Given the description of an element on the screen output the (x, y) to click on. 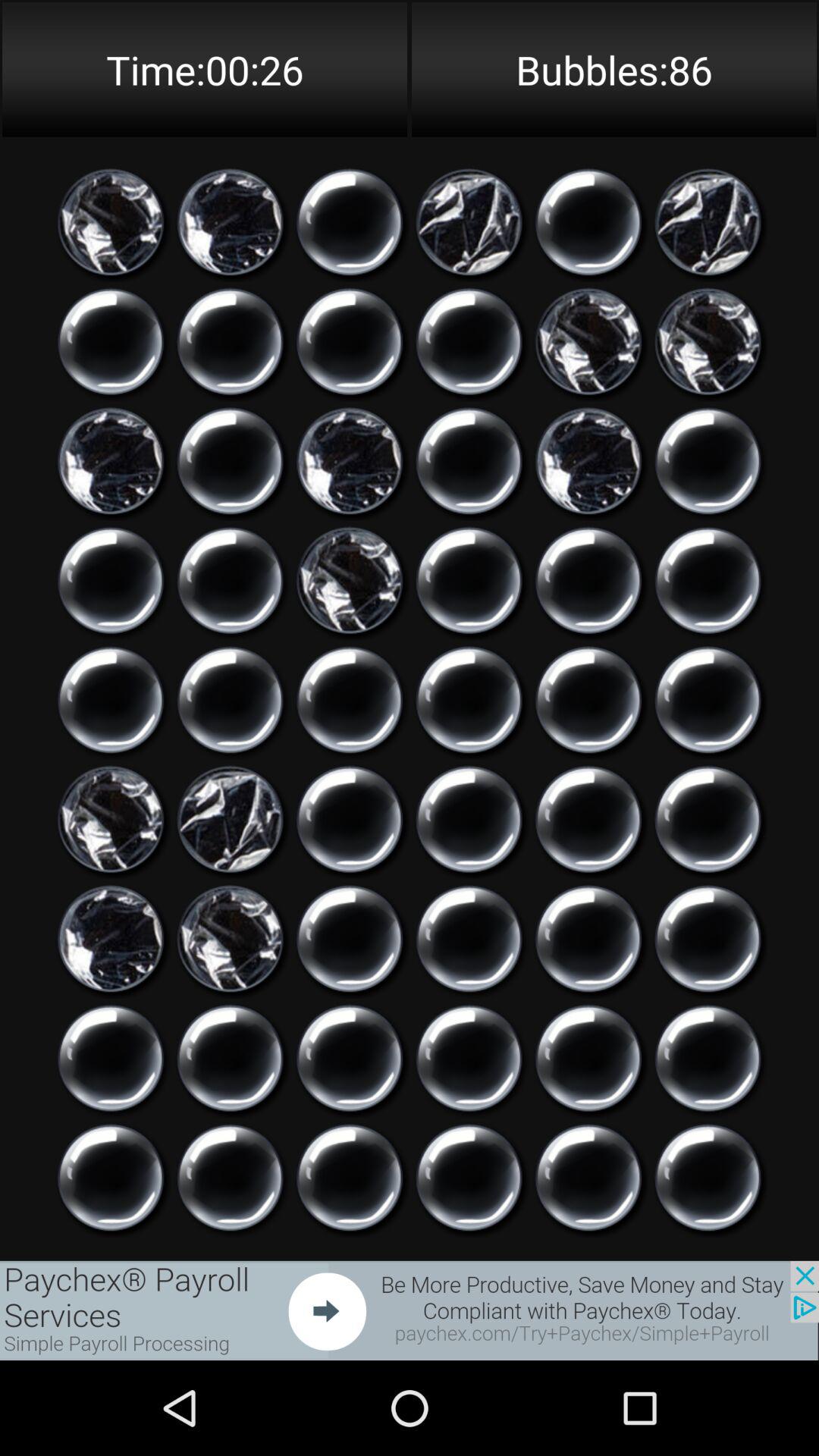
touch to break bubble (110, 699)
